Given the description of an element on the screen output the (x, y) to click on. 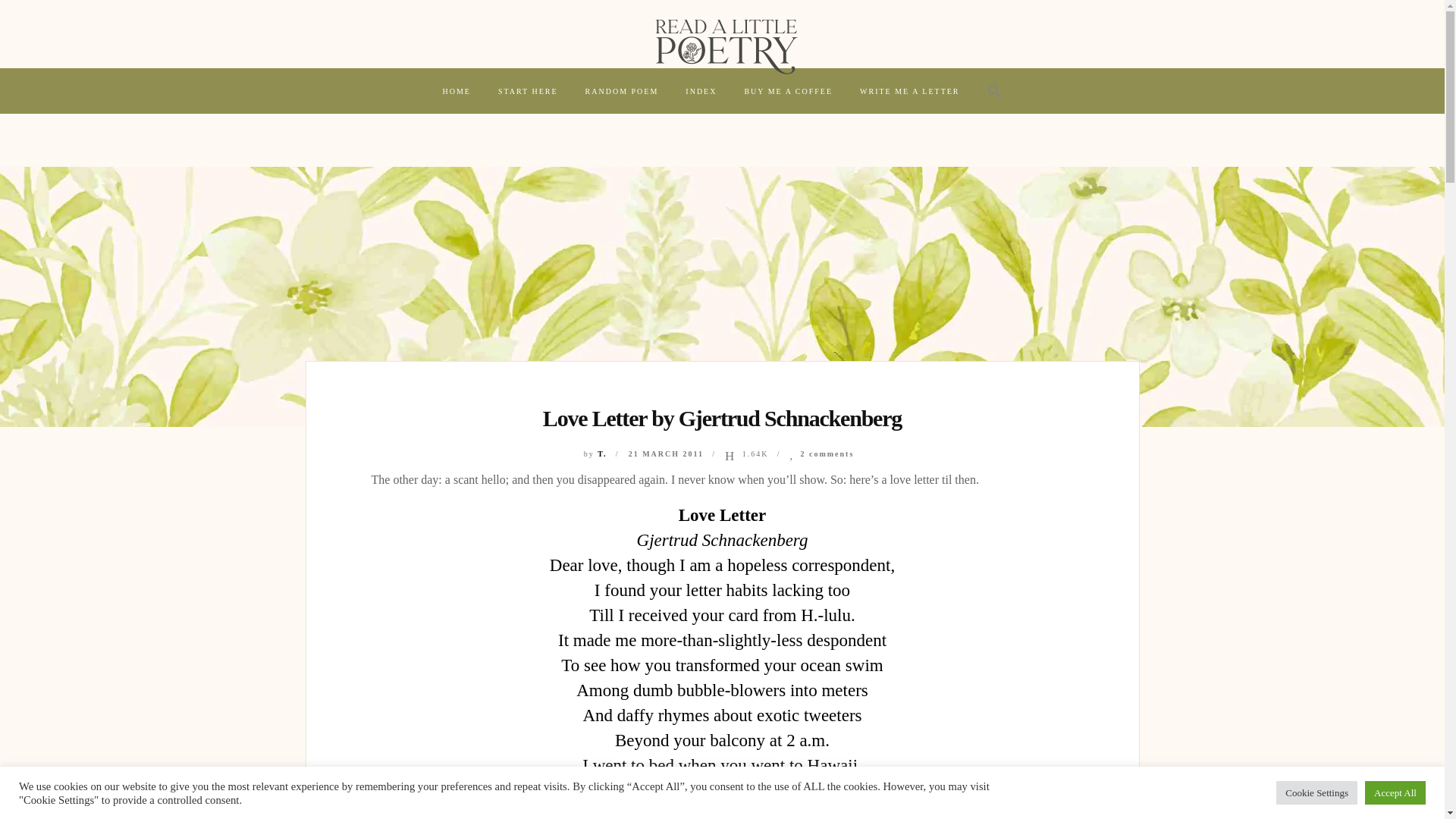
BUY ME A COFFEE (787, 90)
INDEX (700, 90)
RANDOM POEM (622, 90)
WRITE ME A LETTER (909, 90)
HOME (455, 90)
START HERE (528, 90)
